Given the description of an element on the screen output the (x, y) to click on. 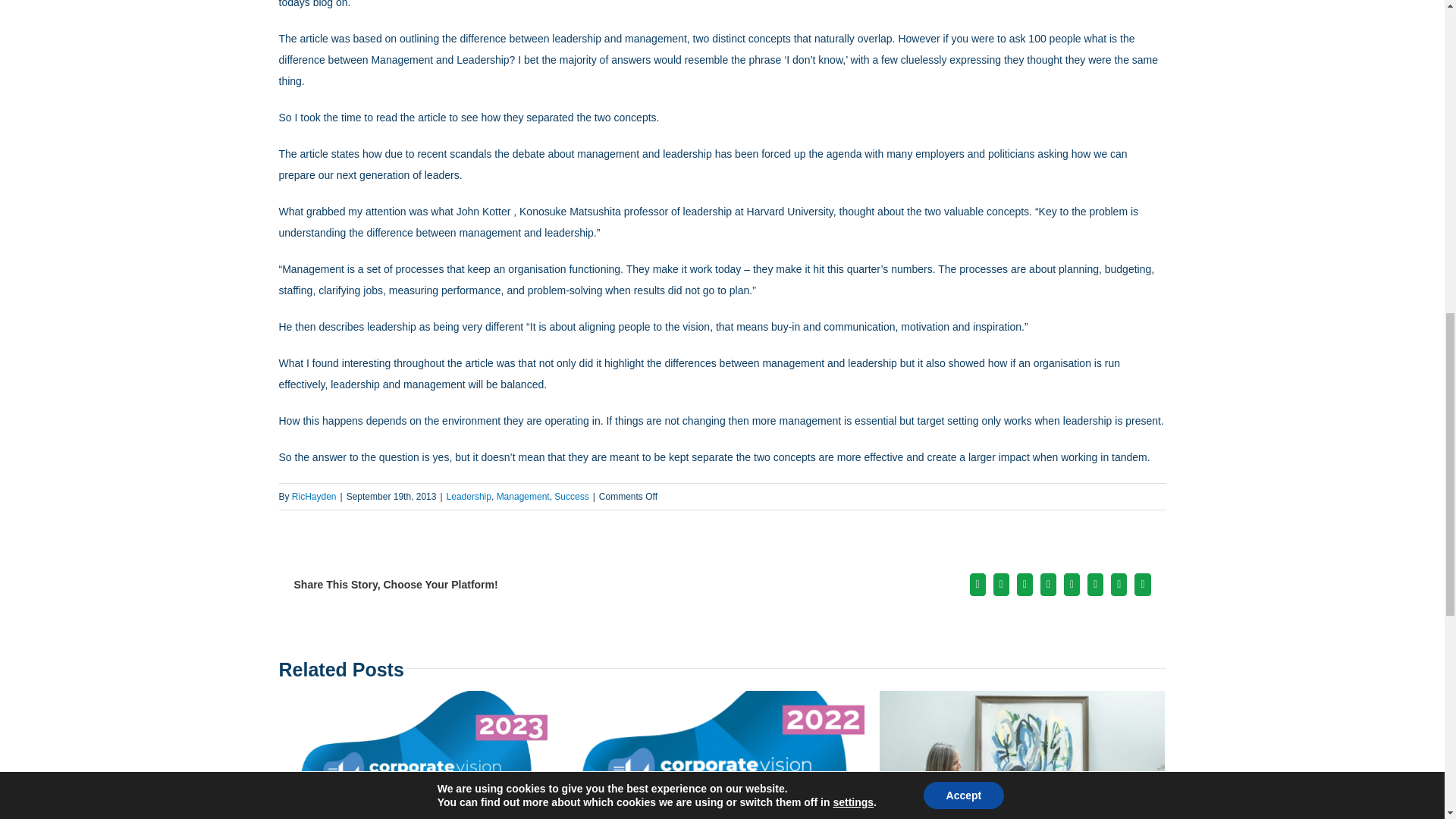
Success (571, 496)
Posts by RicHayden (314, 496)
Management (523, 496)
Leadership (469, 496)
RicHayden (314, 496)
